Given the description of an element on the screen output the (x, y) to click on. 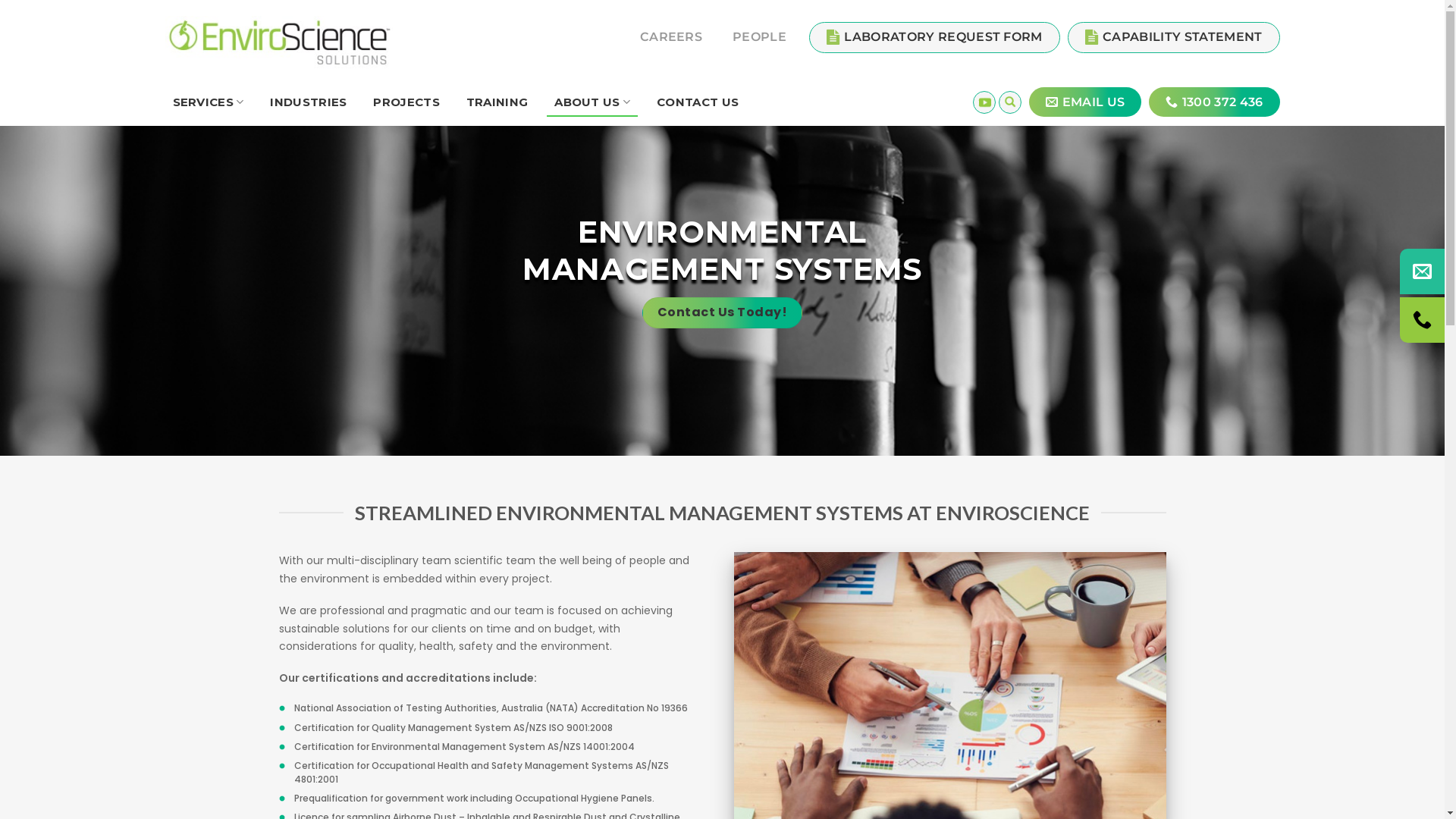
CONTACT US Element type: text (697, 101)
EnviroScience Solutions - Practical Sustainable Solutions Element type: hover (278, 42)
Call us Element type: hover (1422, 319)
Follow on YouTube Element type: hover (983, 102)
PEOPLE Element type: text (758, 36)
PROJECTS Element type: text (405, 101)
SERVICES Element type: text (208, 101)
EMAIL US Element type: text (1085, 101)
Send us an email Element type: hover (1422, 271)
LABORATORY REQUEST FORM Element type: text (934, 36)
TRAINING Element type: text (496, 101)
INDUSTRIES Element type: text (308, 101)
ABOUT US Element type: text (591, 101)
CAREERS Element type: text (670, 36)
CAPABILITY STATEMENT Element type: text (1173, 36)
Contact Us Today! Element type: text (722, 312)
1300 372 436 Element type: text (1213, 101)
